Given the description of an element on the screen output the (x, y) to click on. 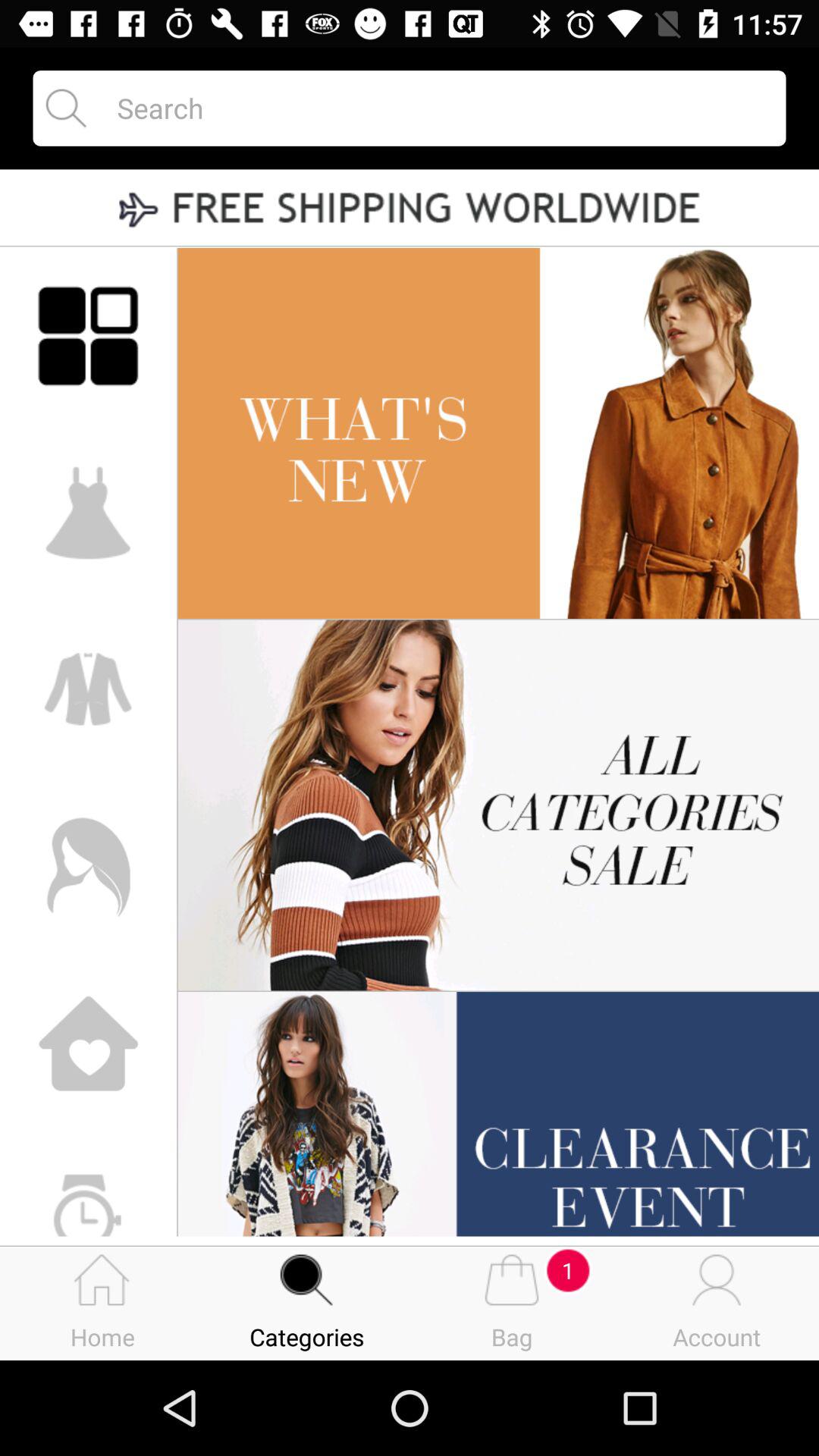
advertisement link (409, 209)
